Given the description of an element on the screen output the (x, y) to click on. 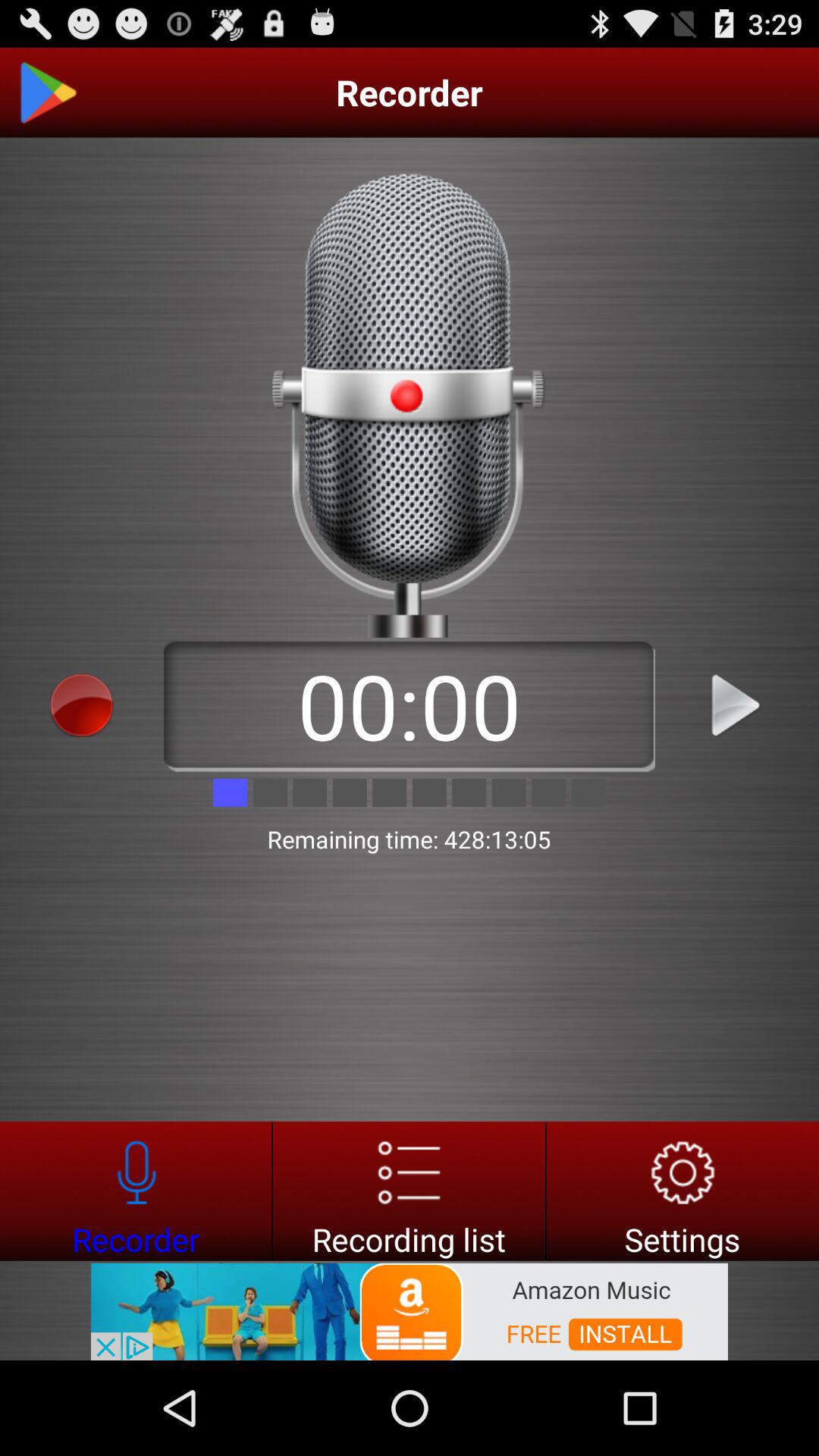
go to advertisement link (409, 1310)
